Given the description of an element on the screen output the (x, y) to click on. 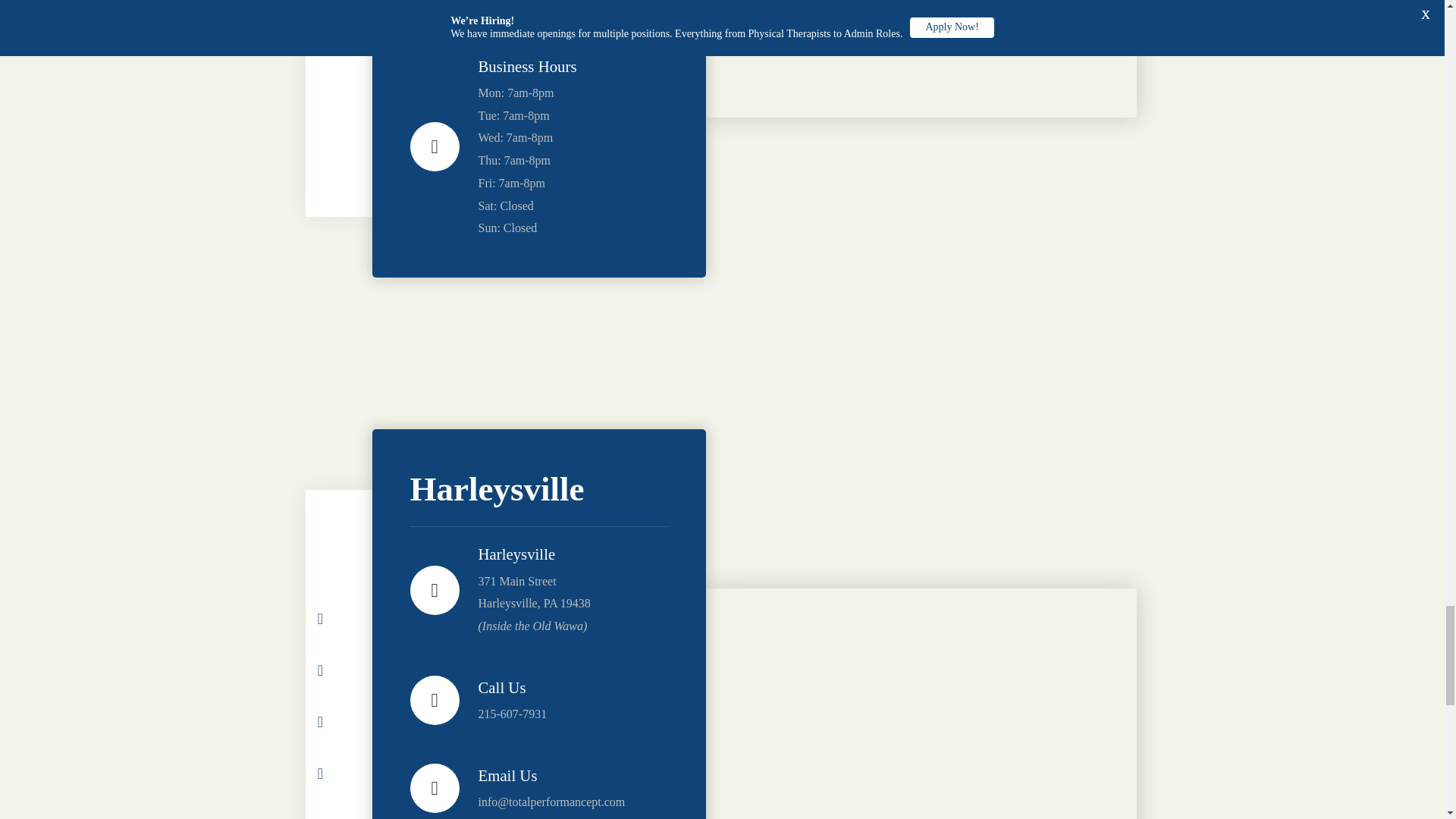
317 W Germantown Pike East Norriton, PA 19403 (919, 58)
